Given the description of an element on the screen output the (x, y) to click on. 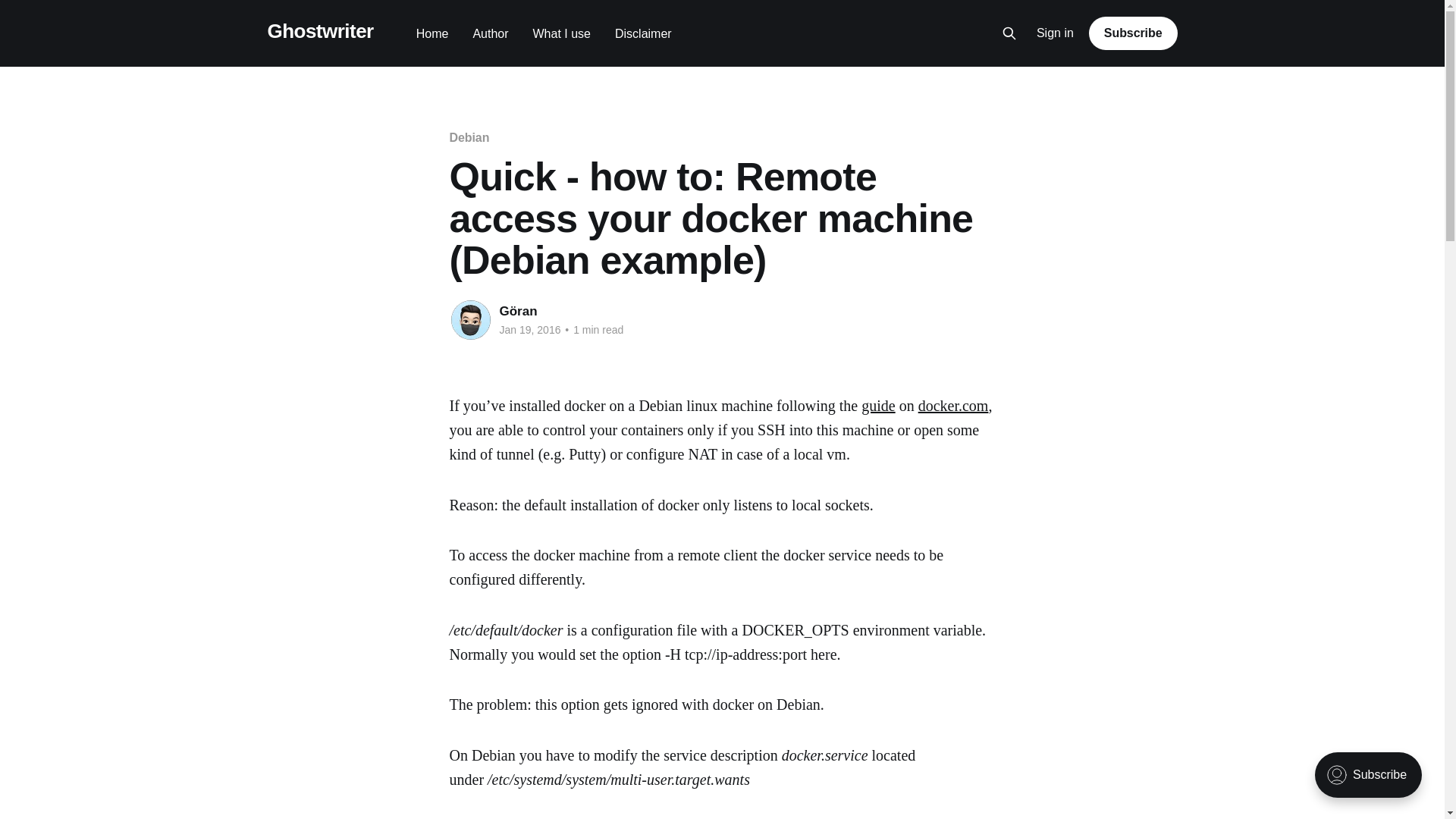
docker.com (953, 405)
Home (432, 33)
Sign in (1055, 33)
Author (489, 33)
Disclaimer (642, 33)
What I use (561, 33)
Ghostwriter (319, 31)
guide (878, 405)
Subscribe (1133, 32)
Debian (468, 137)
